Given the description of an element on the screen output the (x, y) to click on. 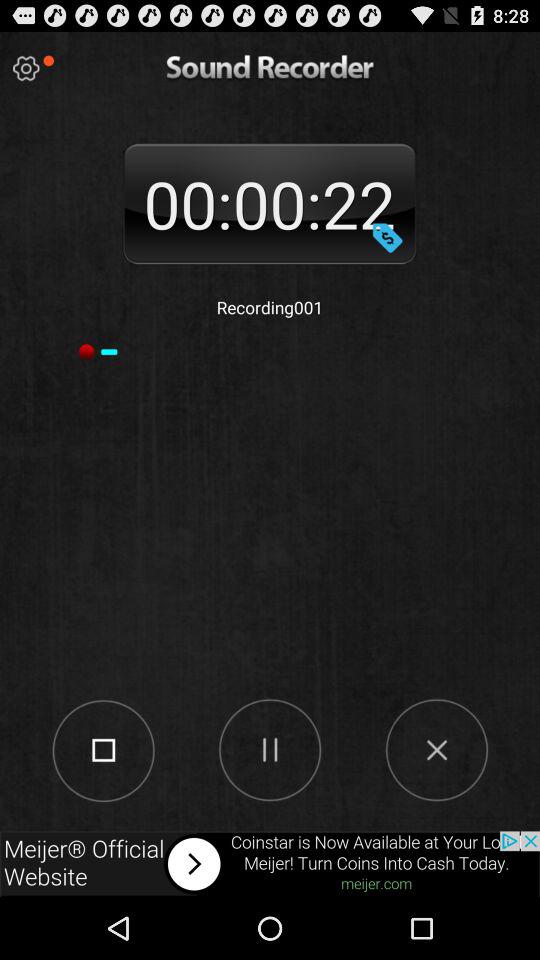
click advertisement (270, 864)
